Given the description of an element on the screen output the (x, y) to click on. 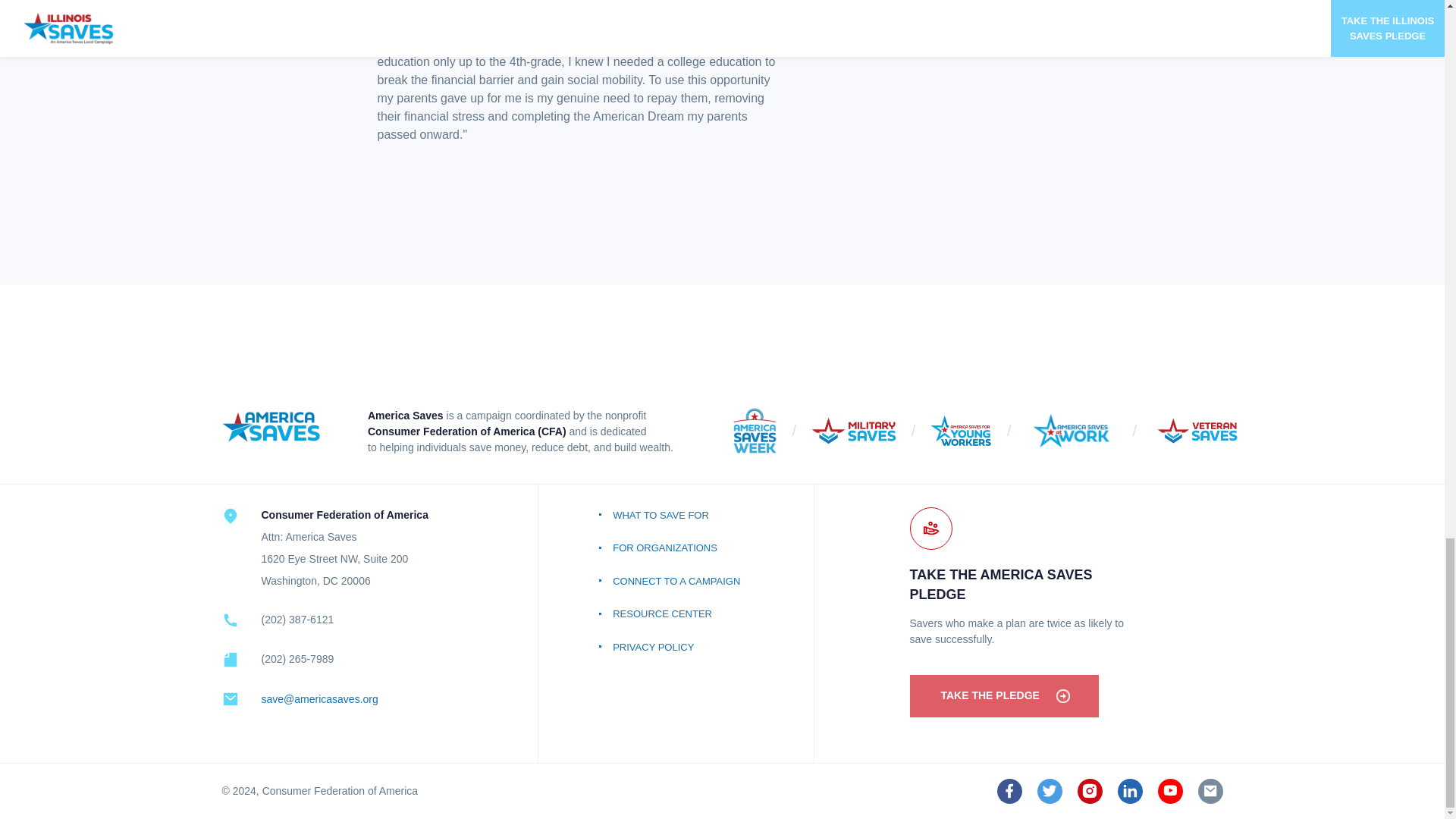
FOR ORGANIZATIONS (675, 548)
PRIVACY POLICY (675, 646)
CONNECT TO A CAMPAIGN (675, 581)
TAKE THE PLEDGE (1004, 695)
RESOURCE CENTER (675, 613)
WHAT TO SAVE FOR (675, 514)
